Given the description of an element on the screen output the (x, y) to click on. 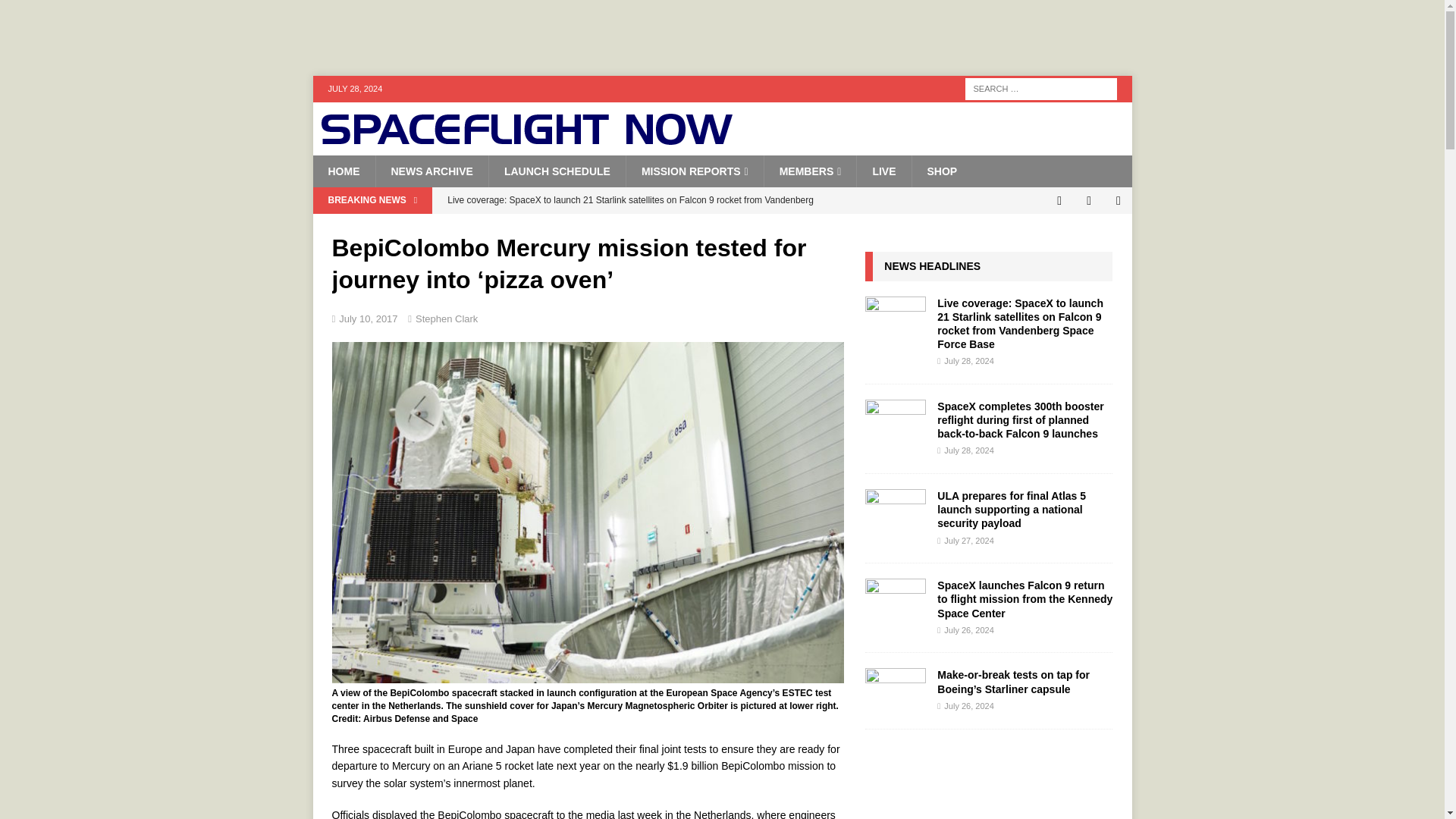
Search (56, 11)
NEWS ARCHIVE (430, 171)
Stephen Clark (445, 318)
Spaceflight Now (526, 139)
MISSION REPORTS (694, 171)
SHOP (941, 171)
July 10, 2017 (368, 318)
LAUNCH SCHEDULE (556, 171)
HOME (343, 171)
LIVE (883, 171)
MEMBERS (809, 171)
